Given the description of an element on the screen output the (x, y) to click on. 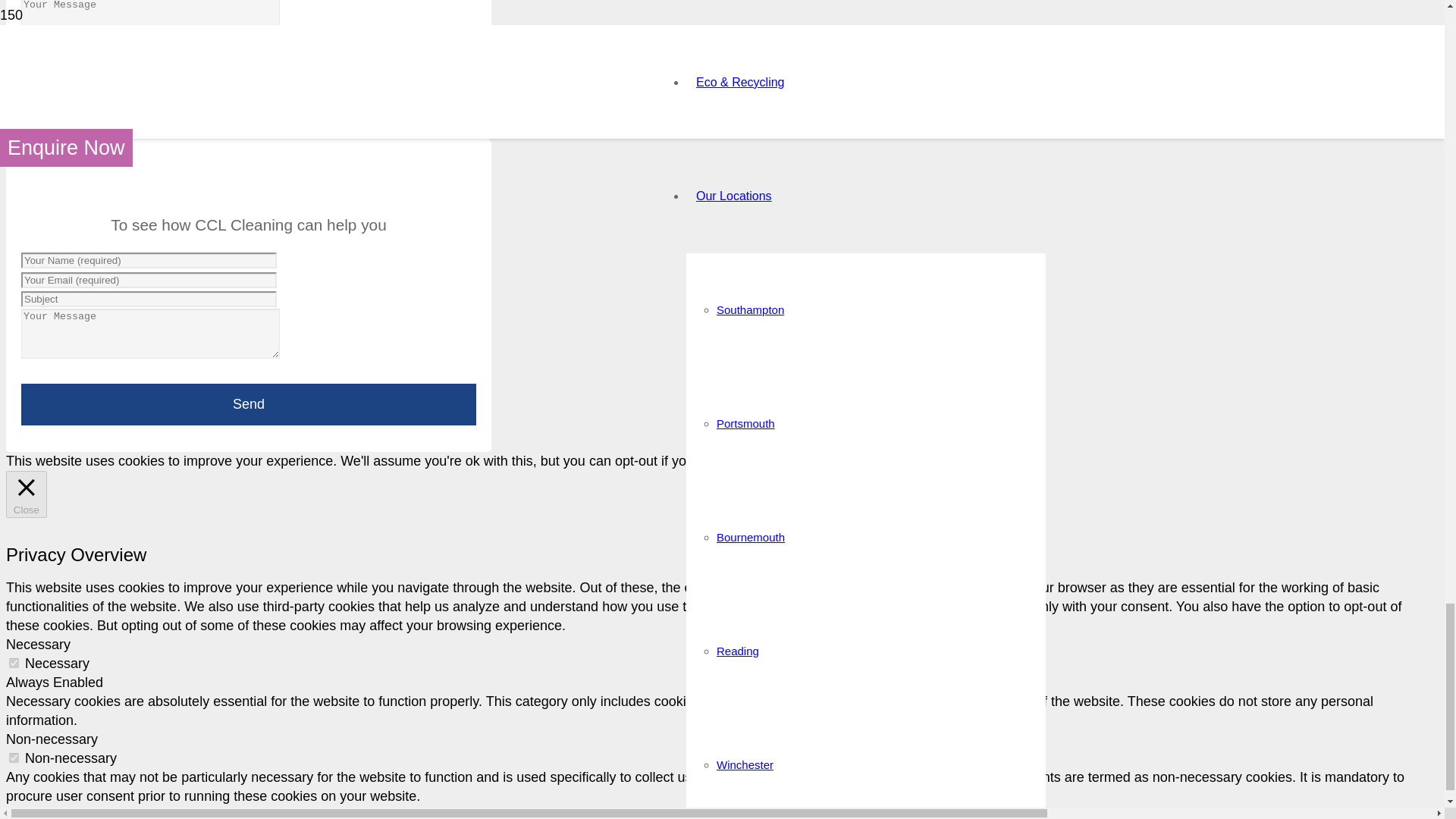
on (13, 757)
on (13, 663)
Send (248, 404)
Send (248, 92)
